Given the description of an element on the screen output the (x, y) to click on. 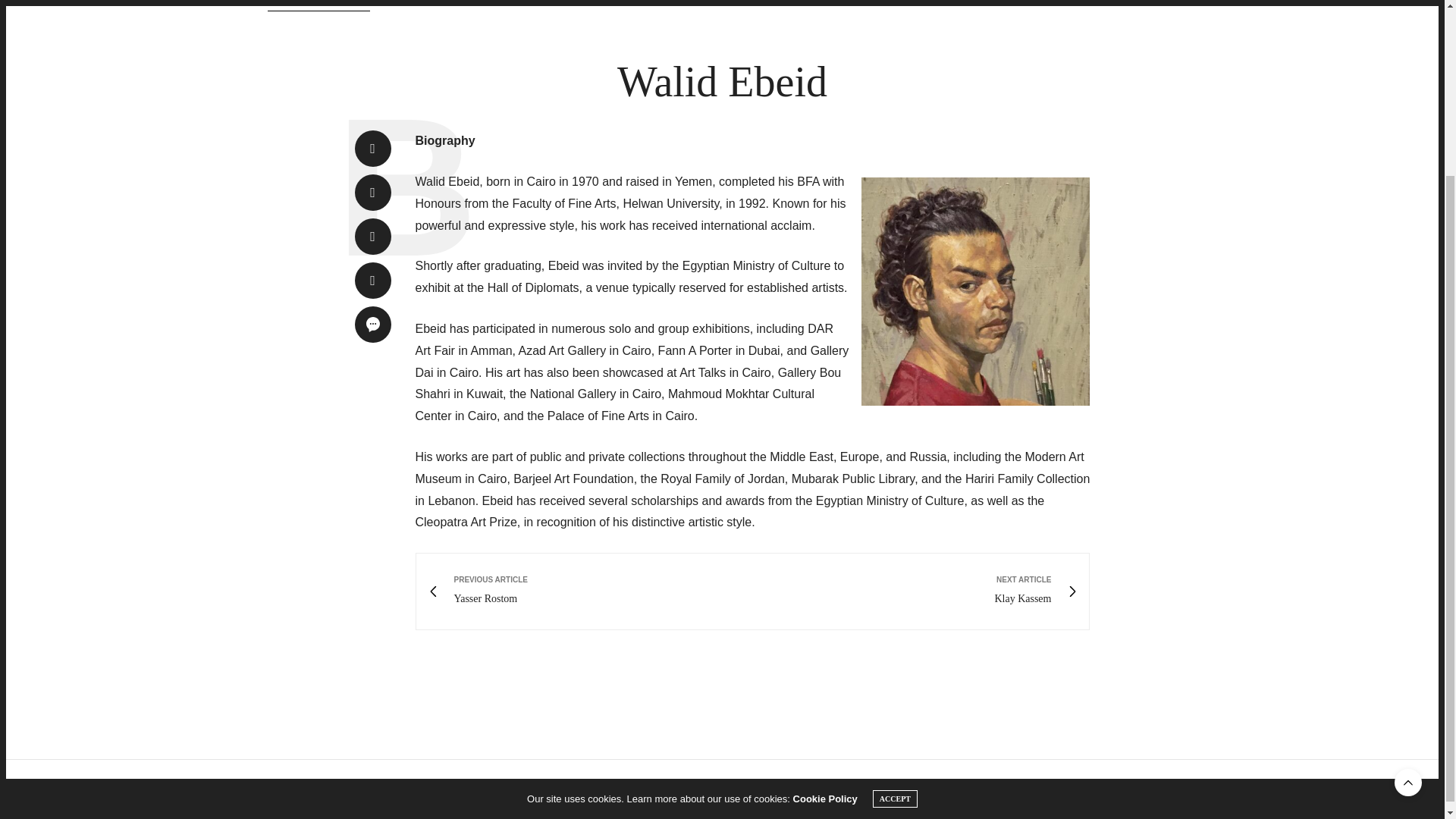
Scroll To Top (1408, 566)
